Given the description of an element on the screen output the (x, y) to click on. 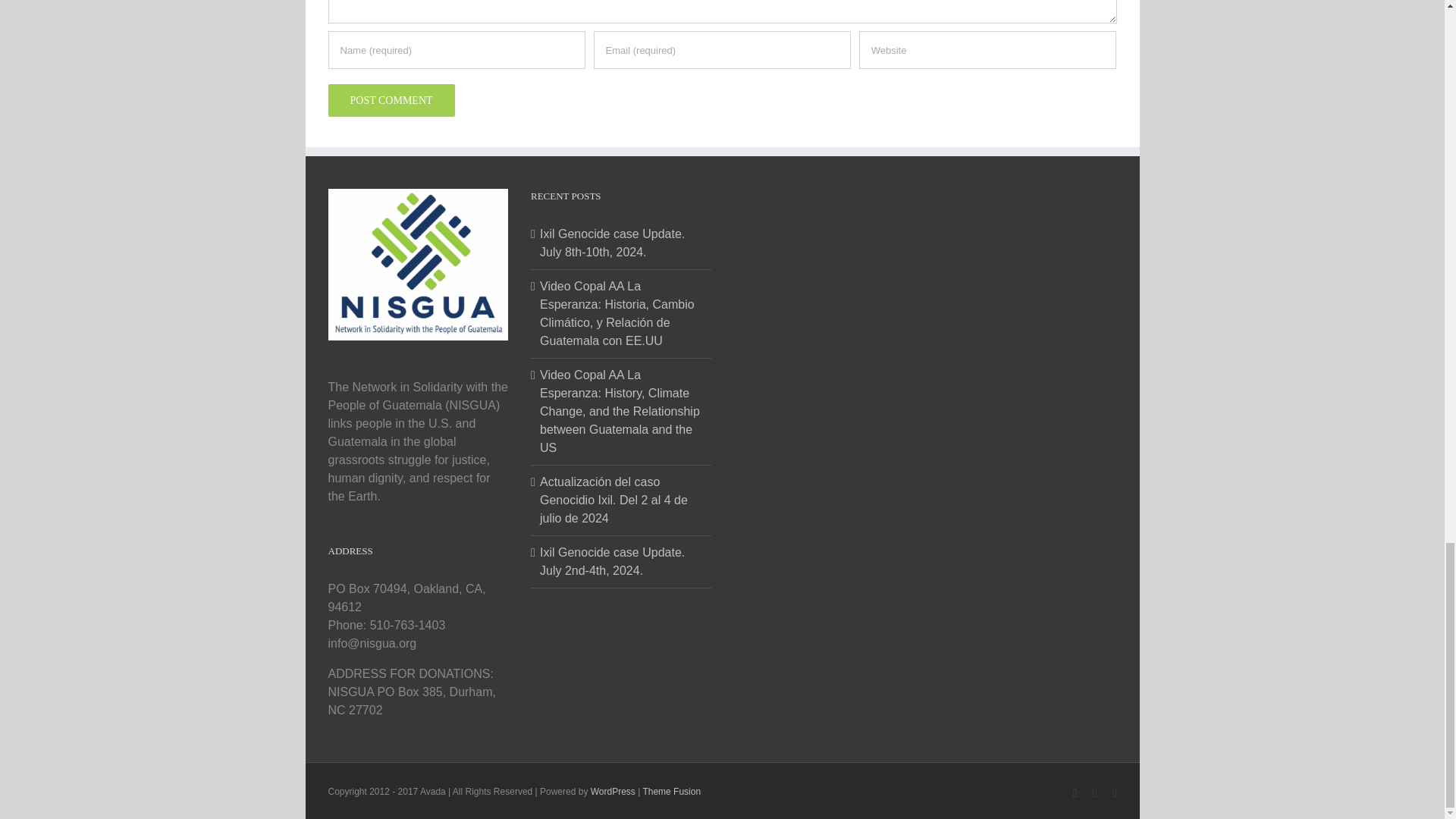
Post Comment (390, 100)
